Given the description of an element on the screen output the (x, y) to click on. 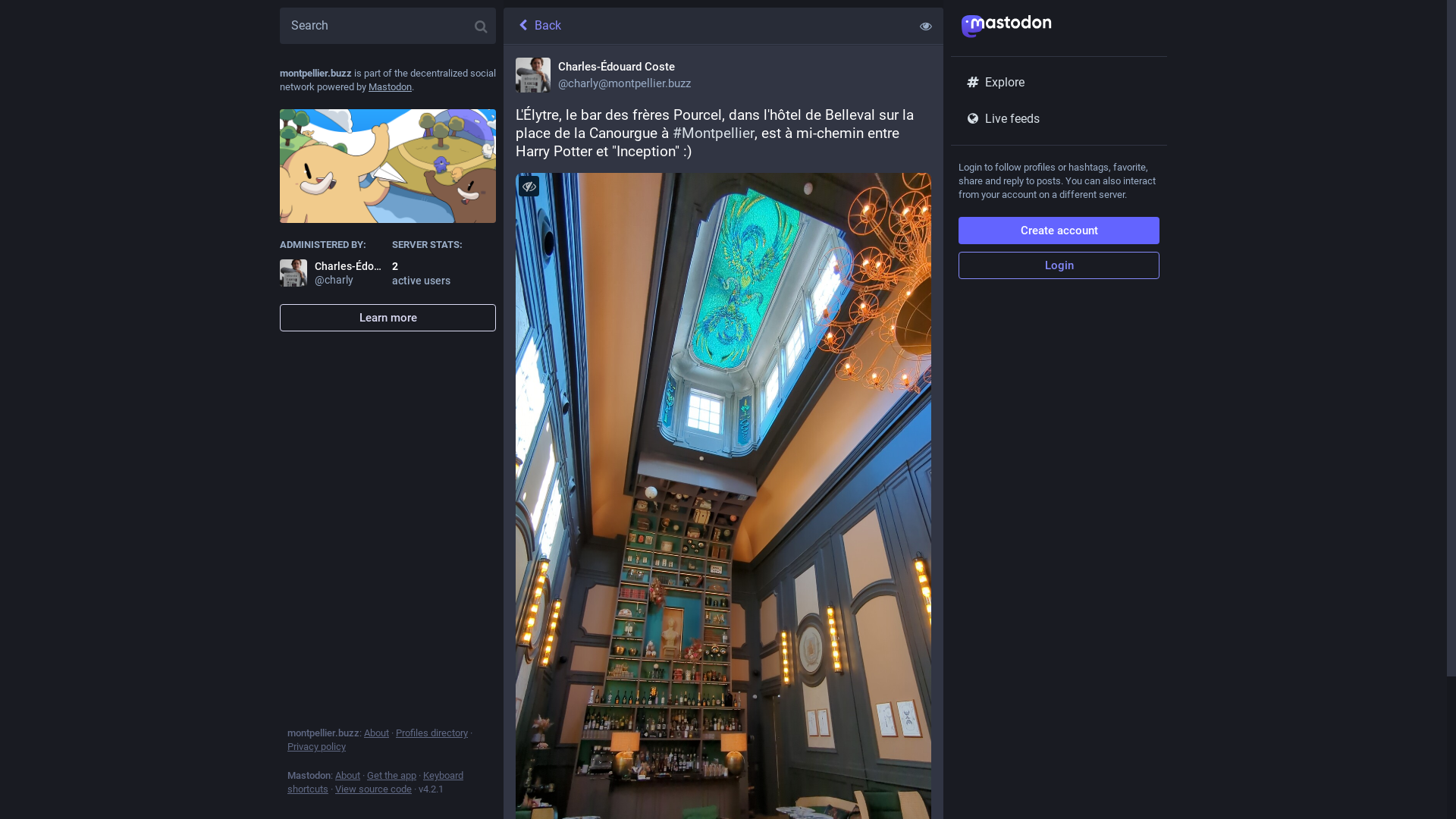
Keyboard shortcuts Element type: text (375, 781)
Get the app Element type: text (391, 775)
View source code Element type: text (373, 788)
Hide image Element type: hover (528, 185)
Show less for all Element type: hover (925, 25)
About Element type: text (347, 775)
Privacy policy Element type: text (316, 746)
Mastodon Element type: text (389, 86)
Live feeds Element type: text (1058, 118)
#Montpellier Element type: text (713, 132)
Profiles directory Element type: text (431, 732)
Back Element type: text (705, 25)
Learn more Element type: text (387, 317)
Explore Element type: text (1058, 82)
Login Element type: text (1058, 265)
Create account Element type: text (1058, 230)
About Element type: text (376, 732)
